Given the description of an element on the screen output the (x, y) to click on. 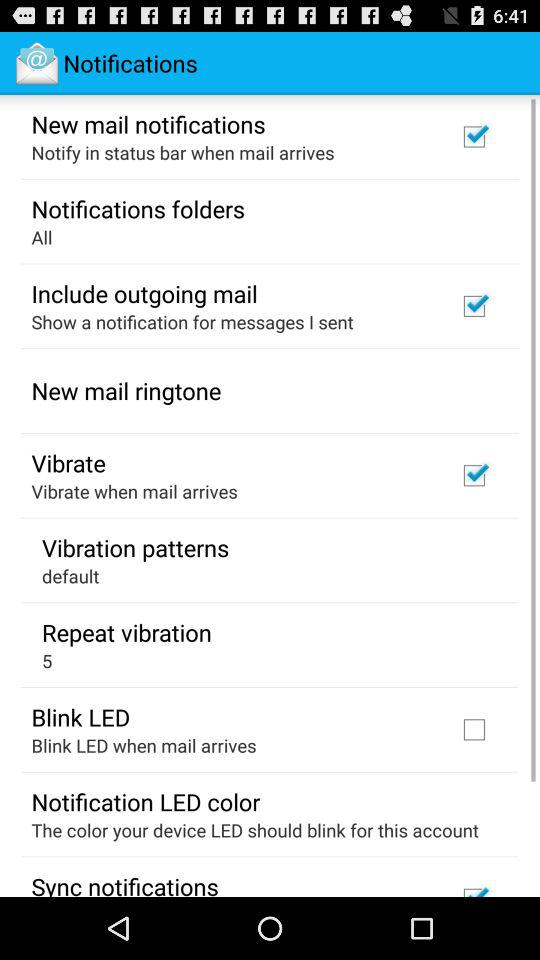
select app below the notification led color icon (254, 829)
